Given the description of an element on the screen output the (x, y) to click on. 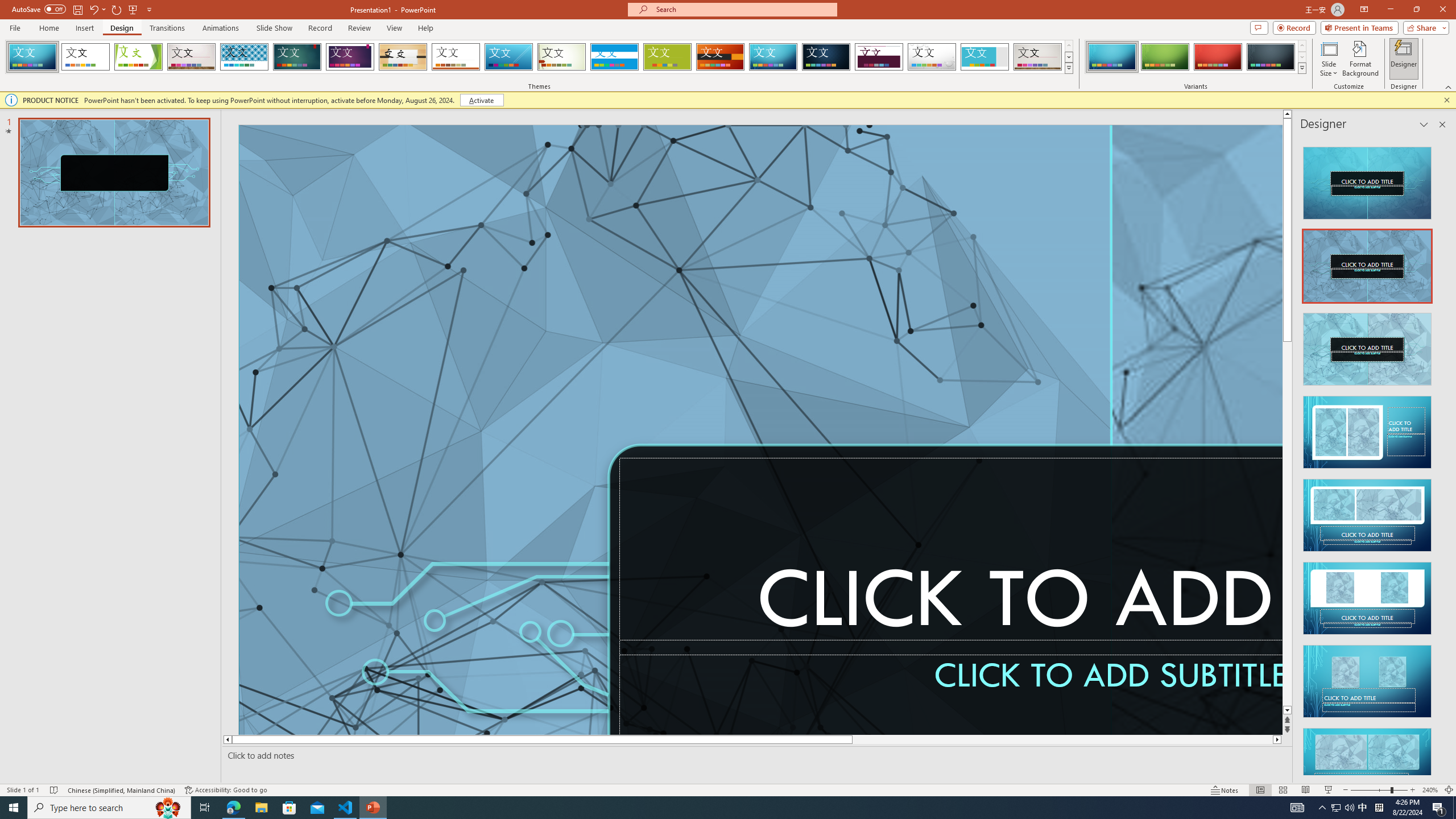
Circuit Variant 1 (1112, 56)
Circuit (772, 56)
Retrospect (455, 56)
Berlin (720, 56)
Basis (667, 56)
Activate (481, 100)
